Given the description of an element on the screen output the (x, y) to click on. 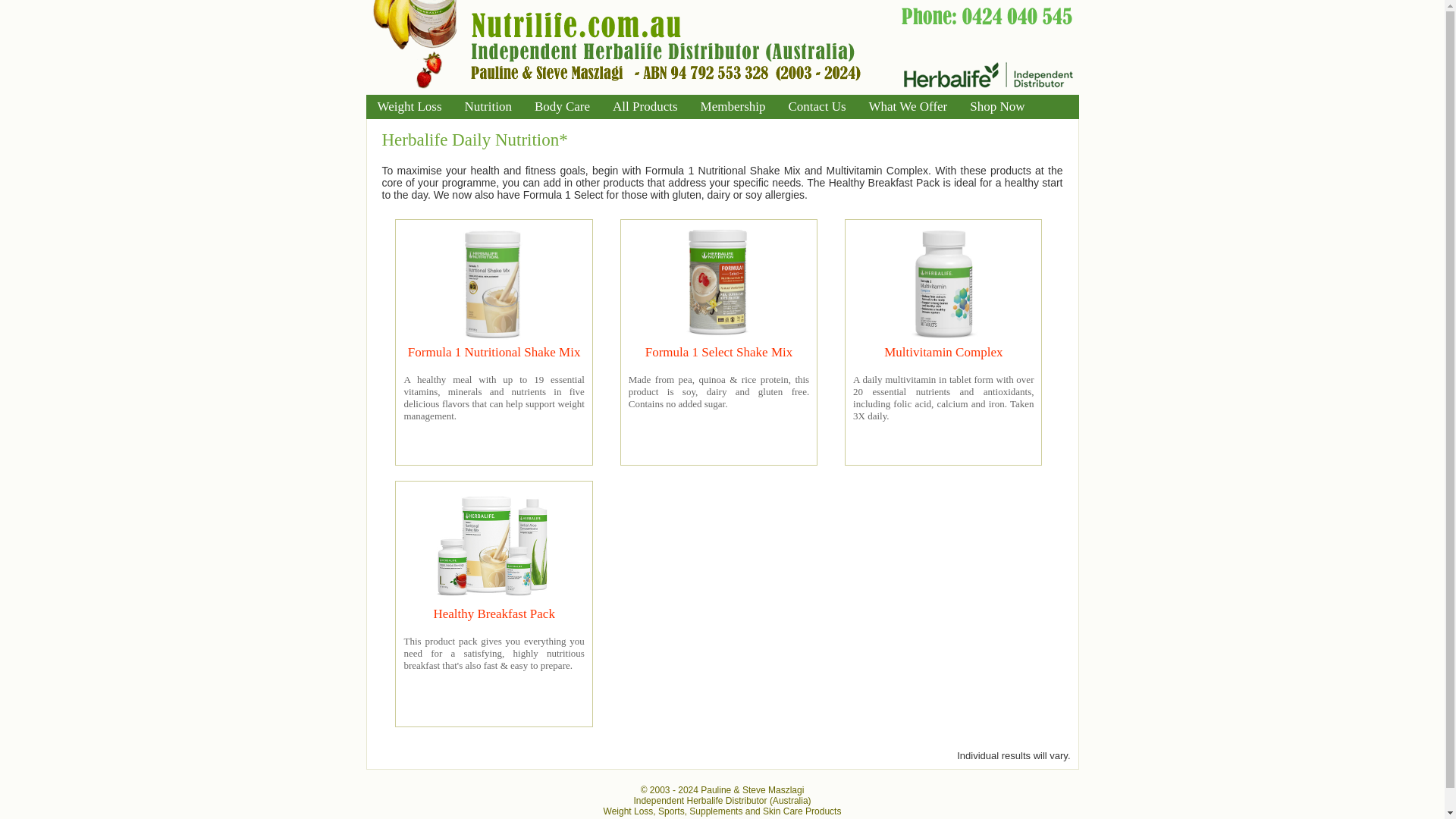
All Products (644, 106)
Shop Now (996, 106)
Multivitamin Complex (943, 351)
Formula 1 Nutritional Shake Mix (493, 351)
Nutrition (487, 106)
What We Offer (908, 106)
Weight Loss (408, 106)
Healthy Breakfast Pack (493, 613)
Body Care (561, 106)
Membership (732, 106)
Formula 1 Select Shake Mix (719, 351)
Contact Us (816, 106)
